Given the description of an element on the screen output the (x, y) to click on. 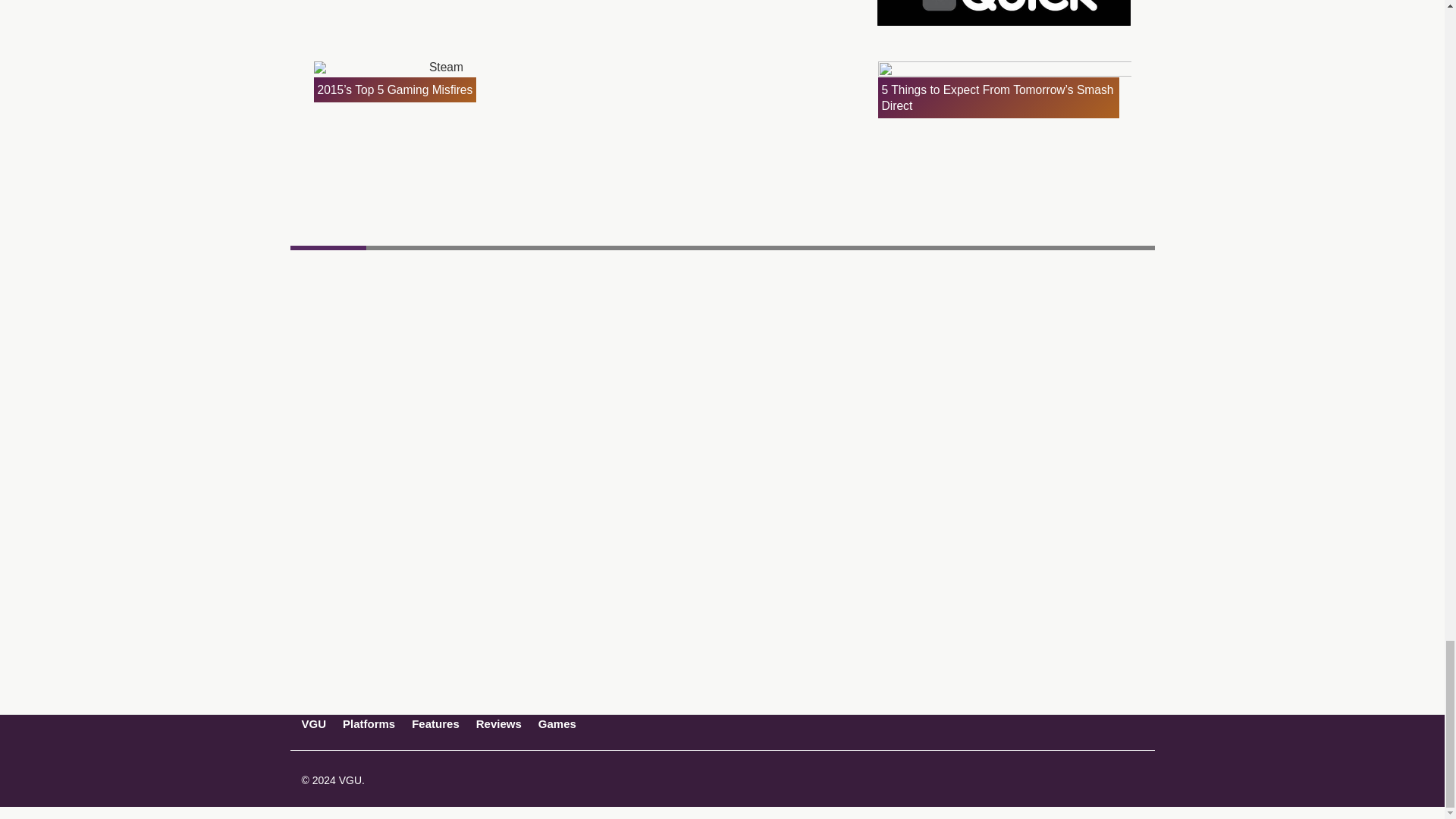
Features (436, 723)
Platforms (368, 723)
VGU (313, 723)
Top 5 Speedruns from AGDQ 2016 (1004, 14)
Games (557, 723)
Reviews (498, 723)
